Given the description of an element on the screen output the (x, y) to click on. 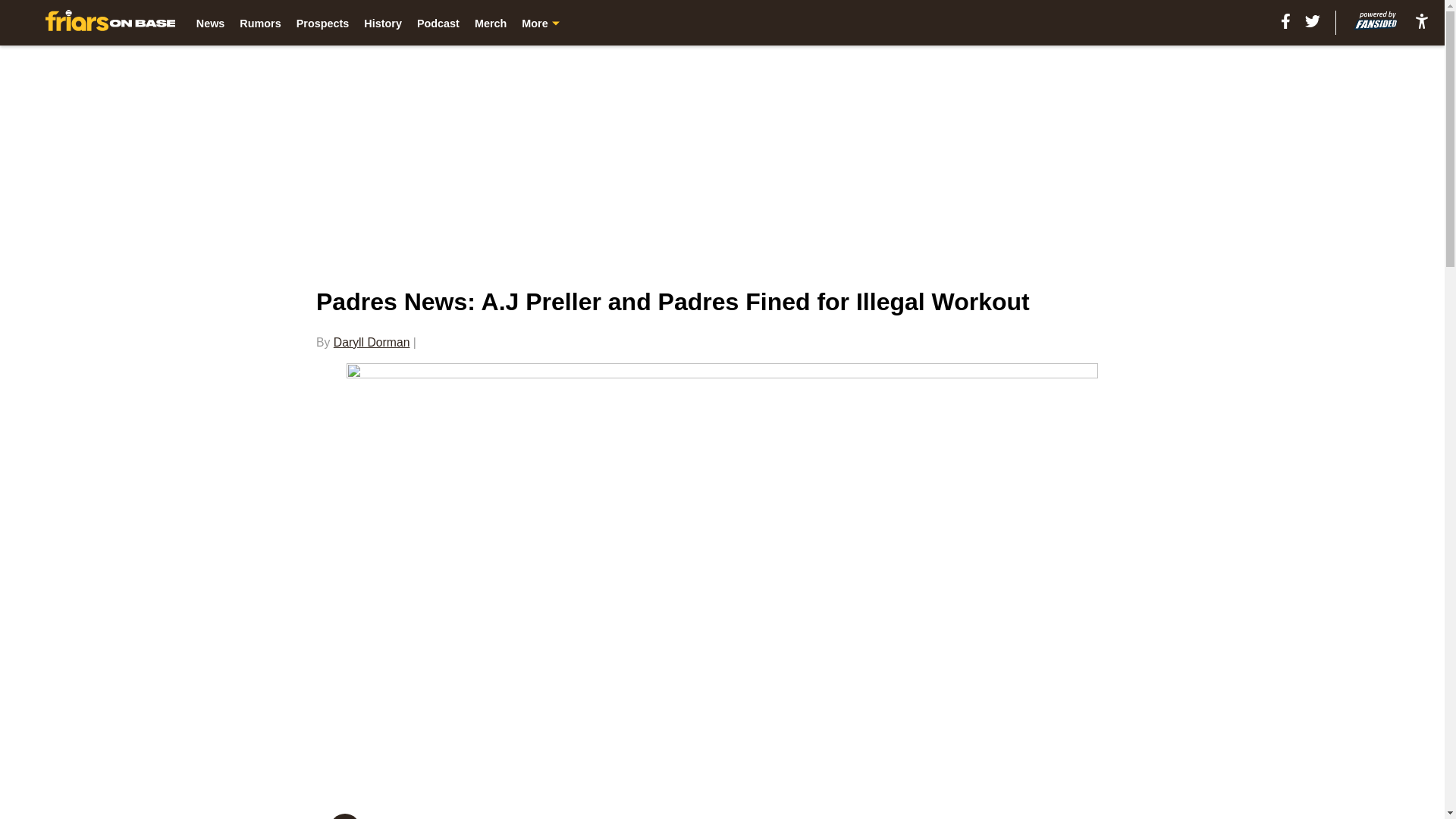
Rumors (260, 23)
Prospects (323, 23)
News (210, 23)
Daryll Dorman (371, 341)
Merch (490, 23)
History (382, 23)
Podcast (438, 23)
